Given the description of an element on the screen output the (x, y) to click on. 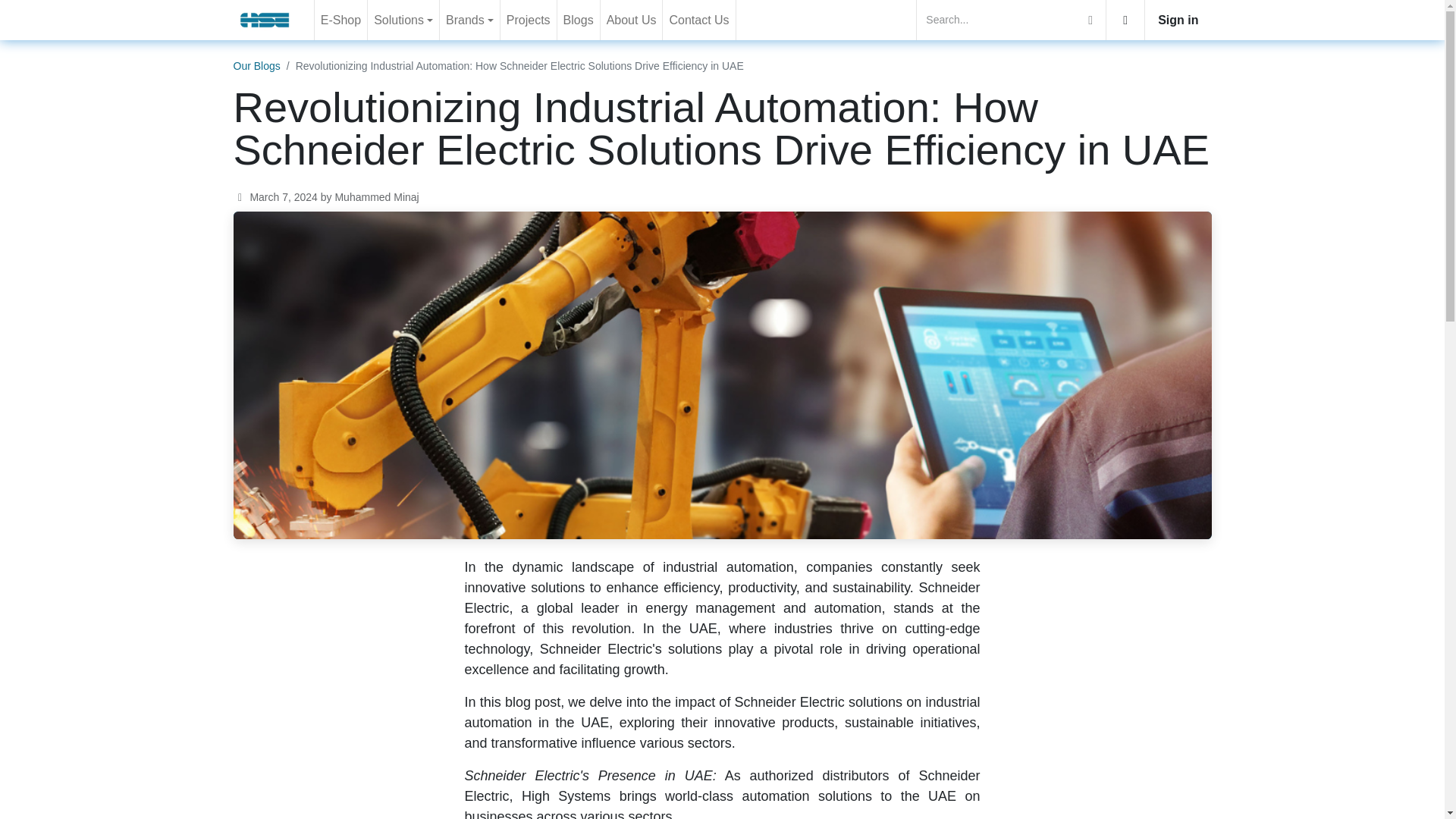
Brands (469, 20)
Contact Us (698, 20)
High Systems Electromechanics LLC (264, 19)
Blogs (578, 20)
E-Shop (340, 20)
About Us (630, 20)
Projects (528, 20)
Solutions (403, 20)
